Given the description of an element on the screen output the (x, y) to click on. 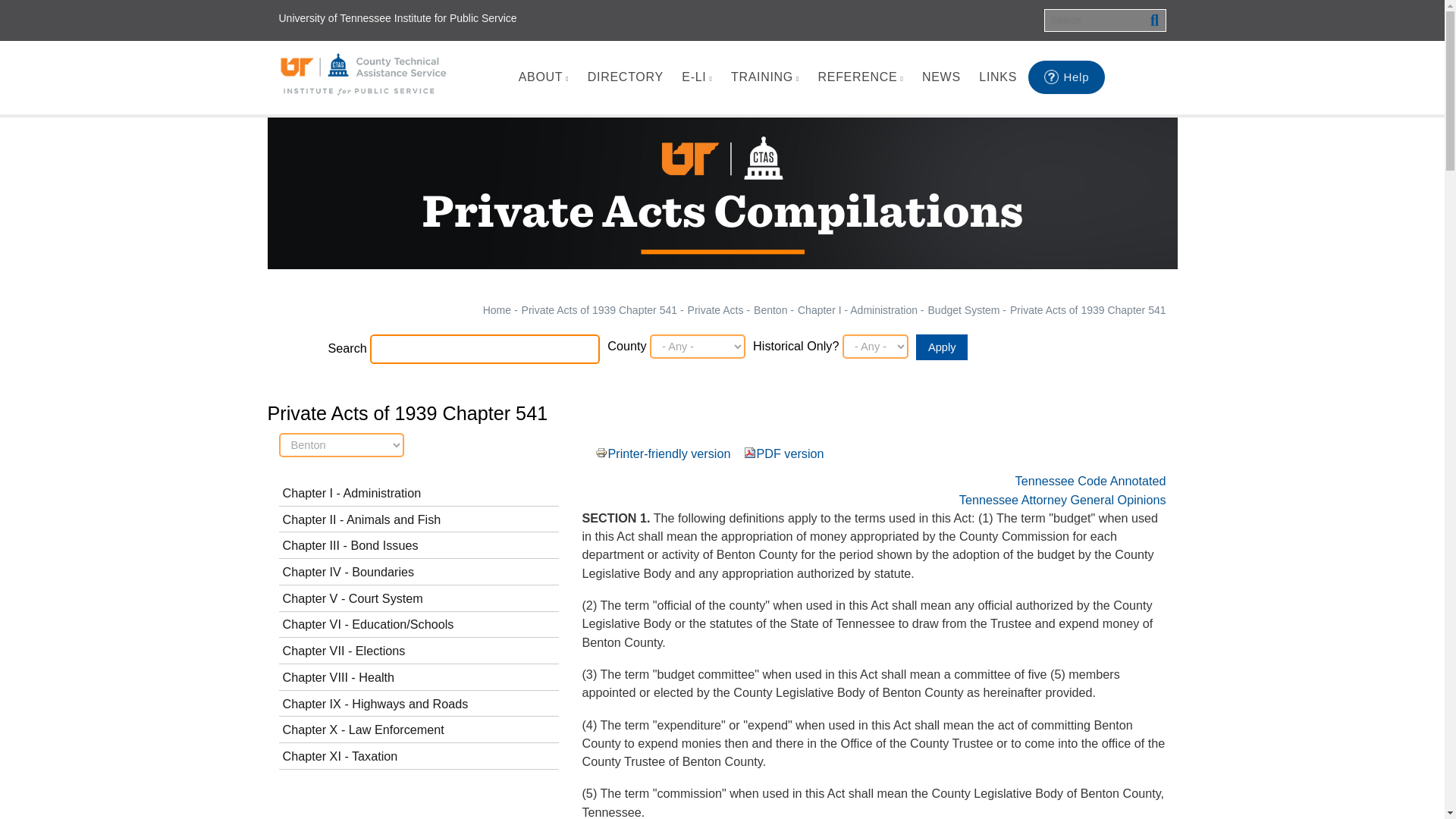
Printer-friendly version (599, 451)
PDF version (748, 451)
Apply (941, 347)
Home (364, 74)
Display a printer-friendly version of this page. (668, 453)
TRAINING (764, 77)
Enter the terms you wish to search for. (1104, 20)
REFERENCE (860, 77)
Search (1154, 20)
University of Tennessee Institute for Public Service (397, 18)
Search (1154, 20)
E-LI (696, 77)
ABOUT (543, 77)
DIRECTORY (625, 77)
